Given the description of an element on the screen output the (x, y) to click on. 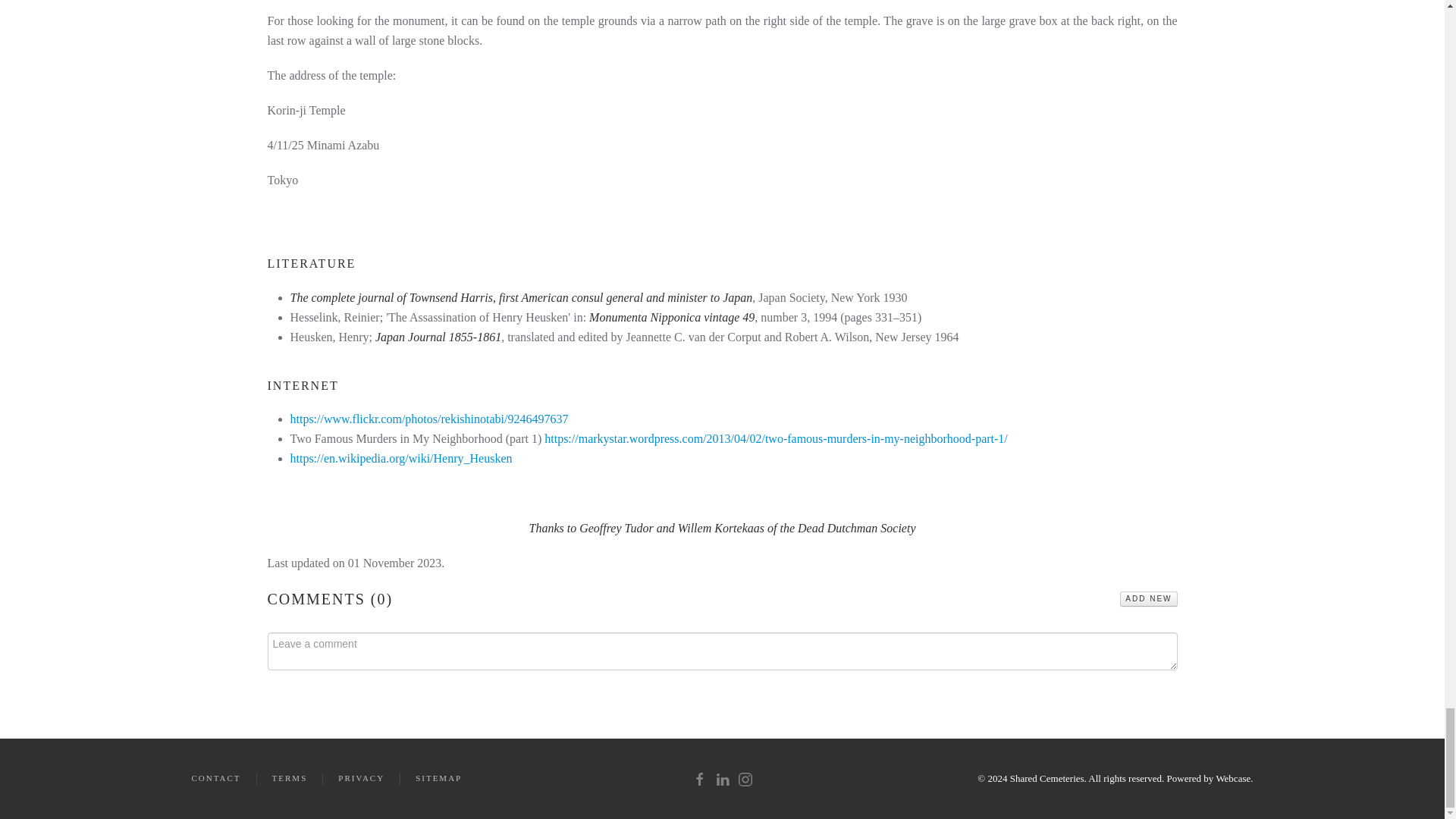
Add New (1147, 598)
